Given the description of an element on the screen output the (x, y) to click on. 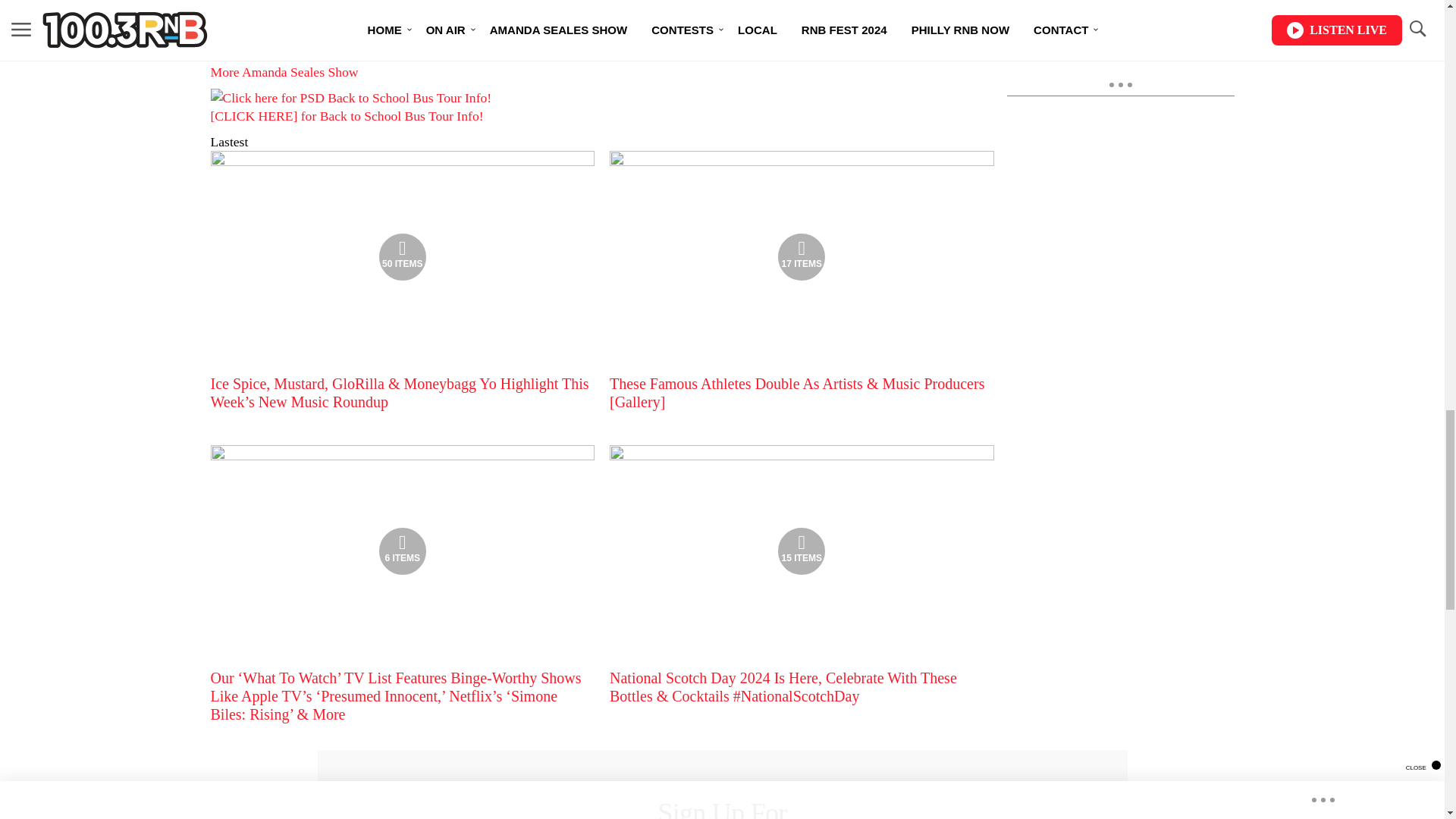
Media Playlist (402, 551)
Media Playlist (801, 551)
Media Playlist (801, 256)
Media Playlist (402, 256)
